Given the description of an element on the screen output the (x, y) to click on. 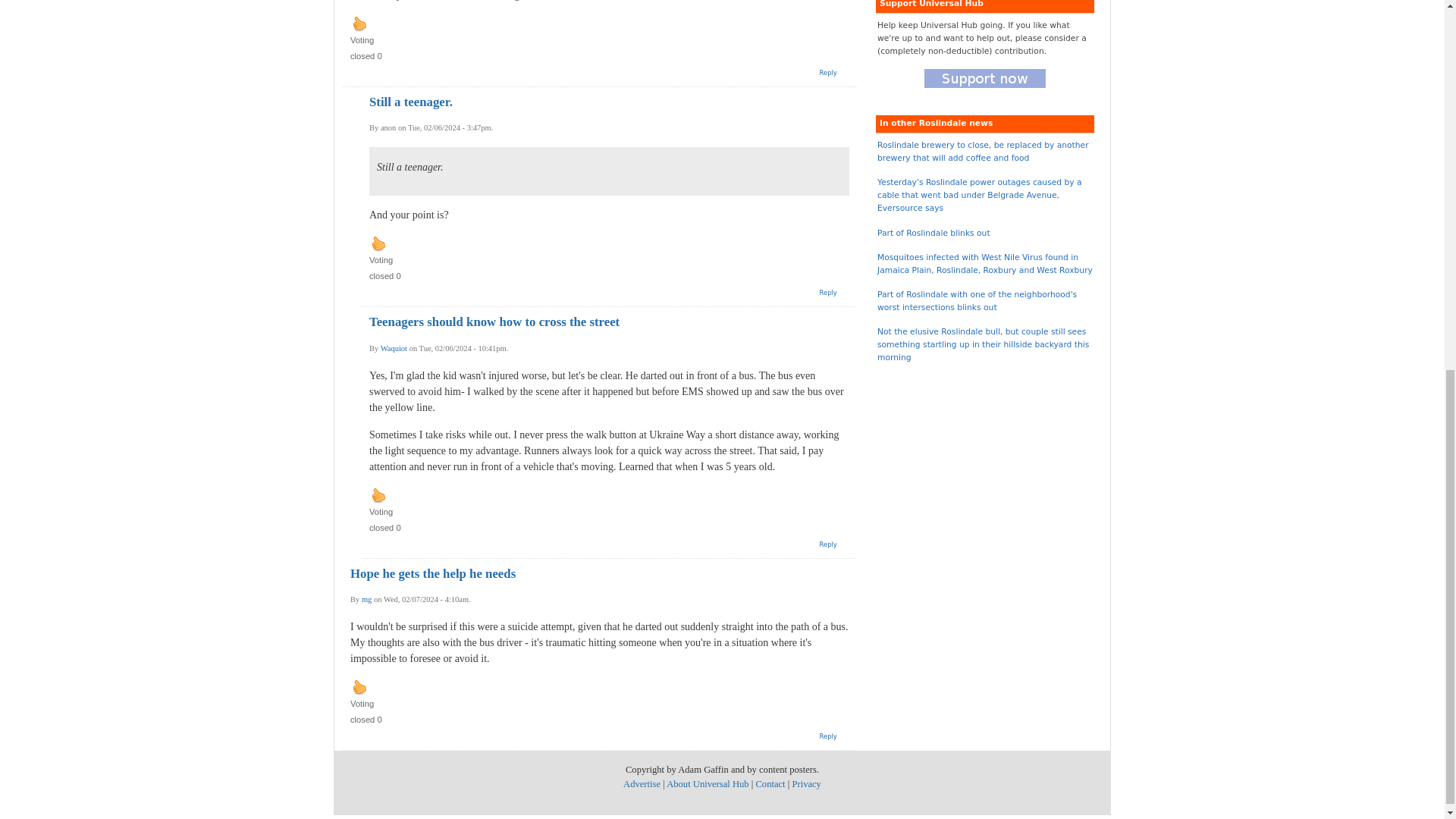
Reply (828, 72)
Still a teenager. (410, 101)
View user profile. (366, 599)
View user profile. (393, 347)
